Given the description of an element on the screen output the (x, y) to click on. 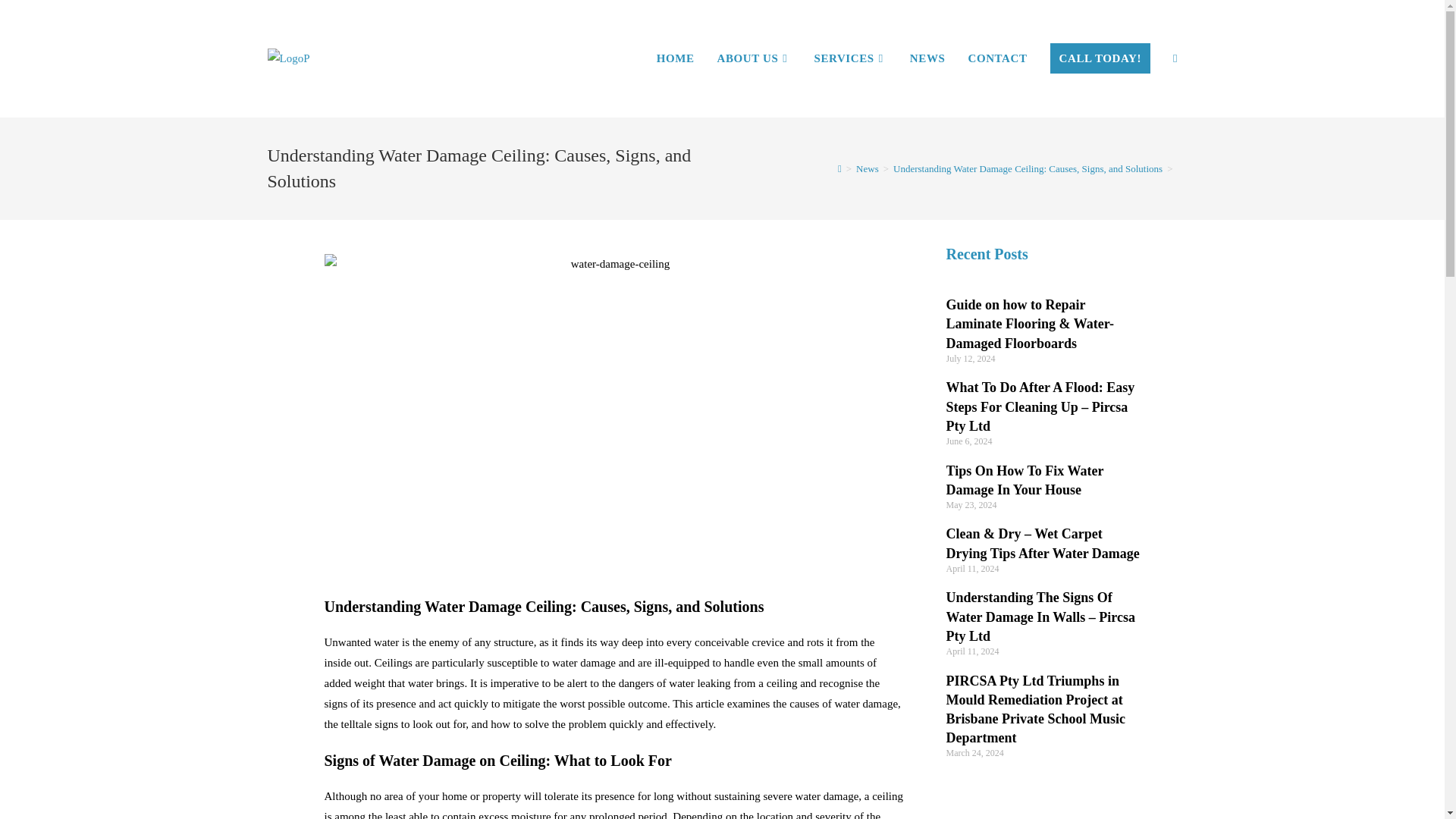
News (867, 168)
CALL TODAY! (1100, 58)
